Given the description of an element on the screen output the (x, y) to click on. 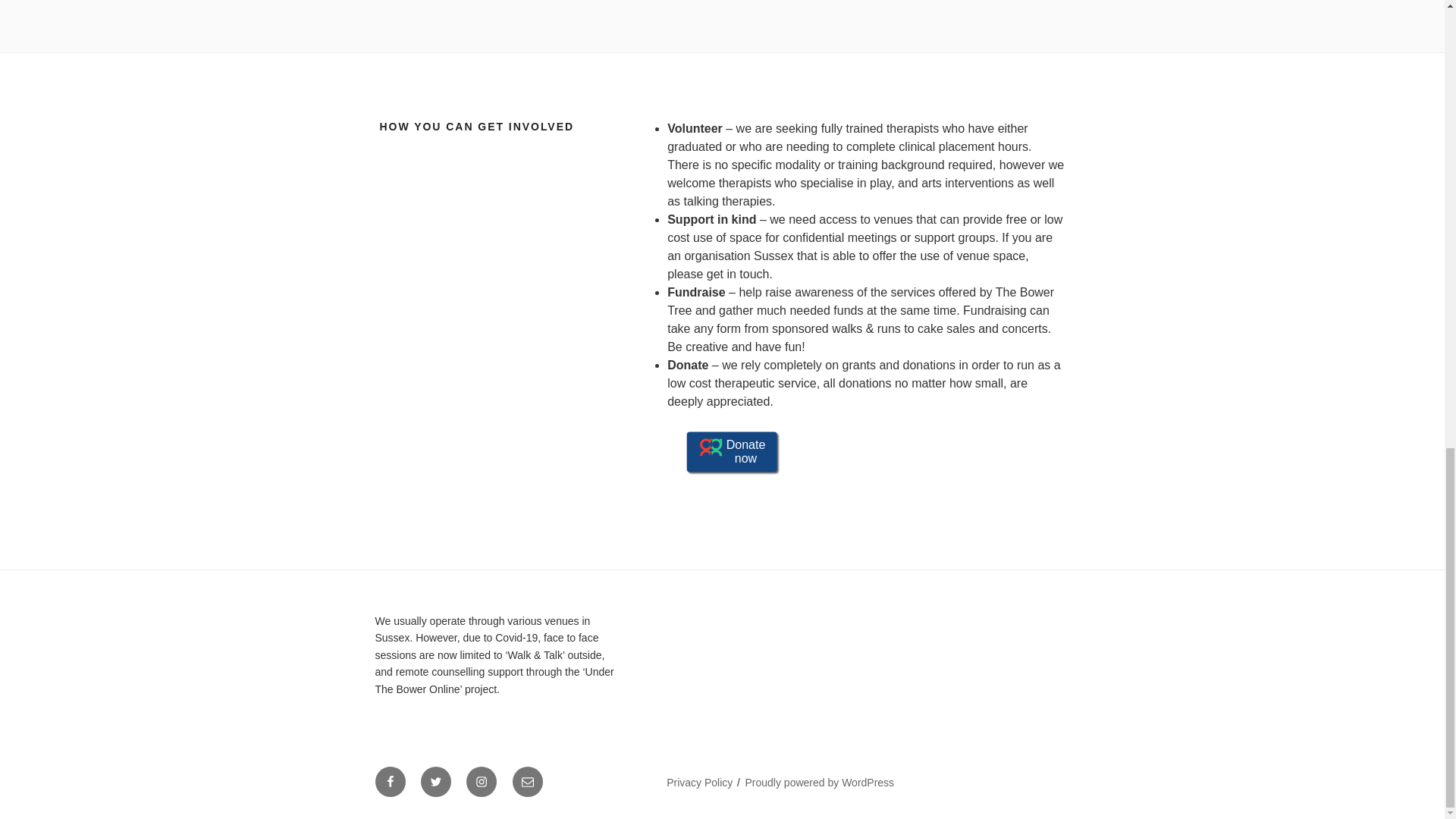
Instagram (480, 781)
Privacy Policy (699, 782)
Proudly powered by WordPress (820, 782)
Facebook (389, 781)
Email (527, 781)
Twitter (435, 781)
